Given the description of an element on the screen output the (x, y) to click on. 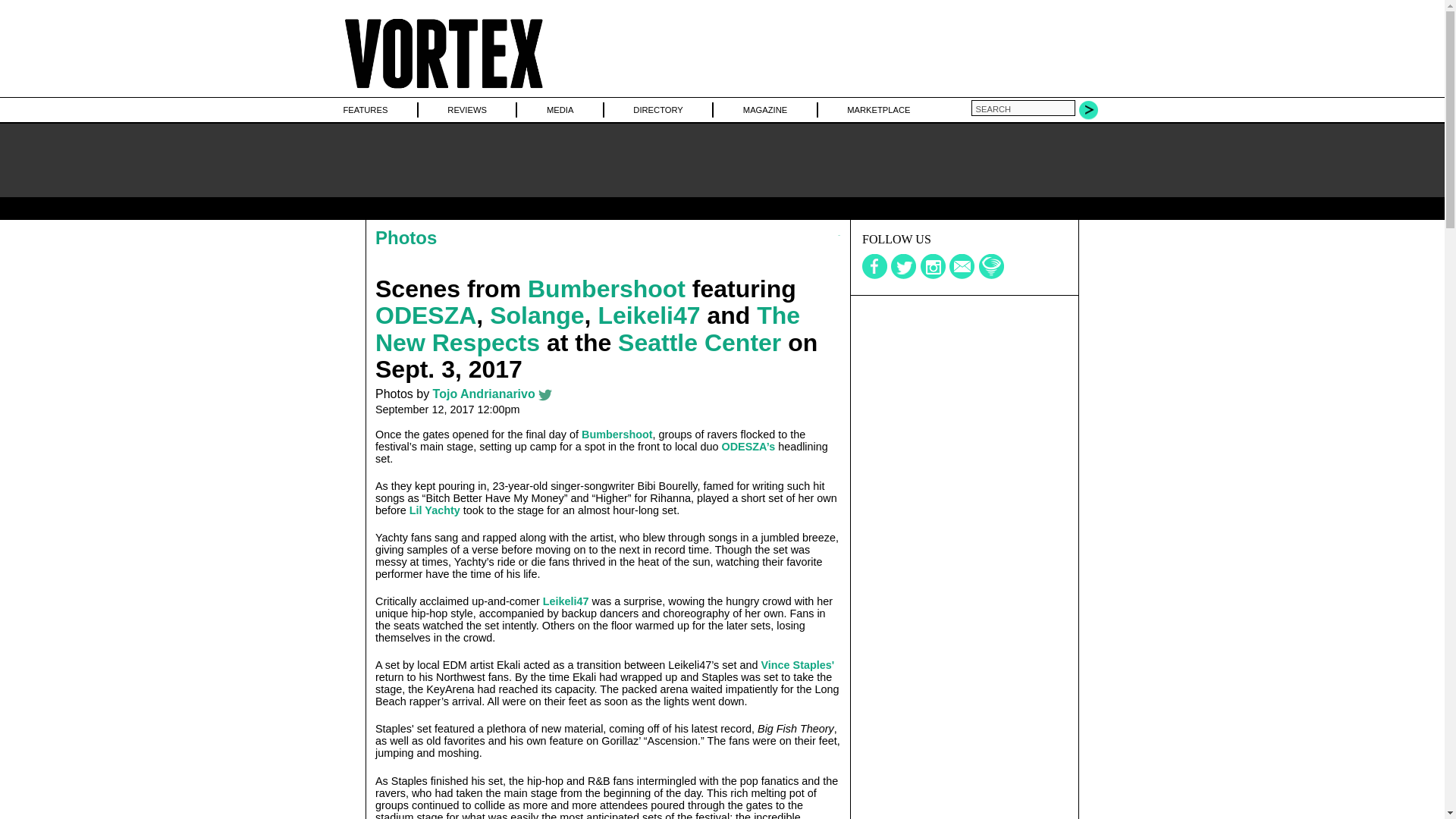
Solange (536, 315)
REVIEWS (466, 109)
Bumbershoot (616, 434)
FEATURES (364, 109)
read more about Tojo Andrianarivo (483, 393)
Bumbershoot (606, 288)
search (1022, 107)
3rd party ad content (964, 390)
Photos (405, 237)
Seattle Center (698, 342)
